Given the description of an element on the screen output the (x, y) to click on. 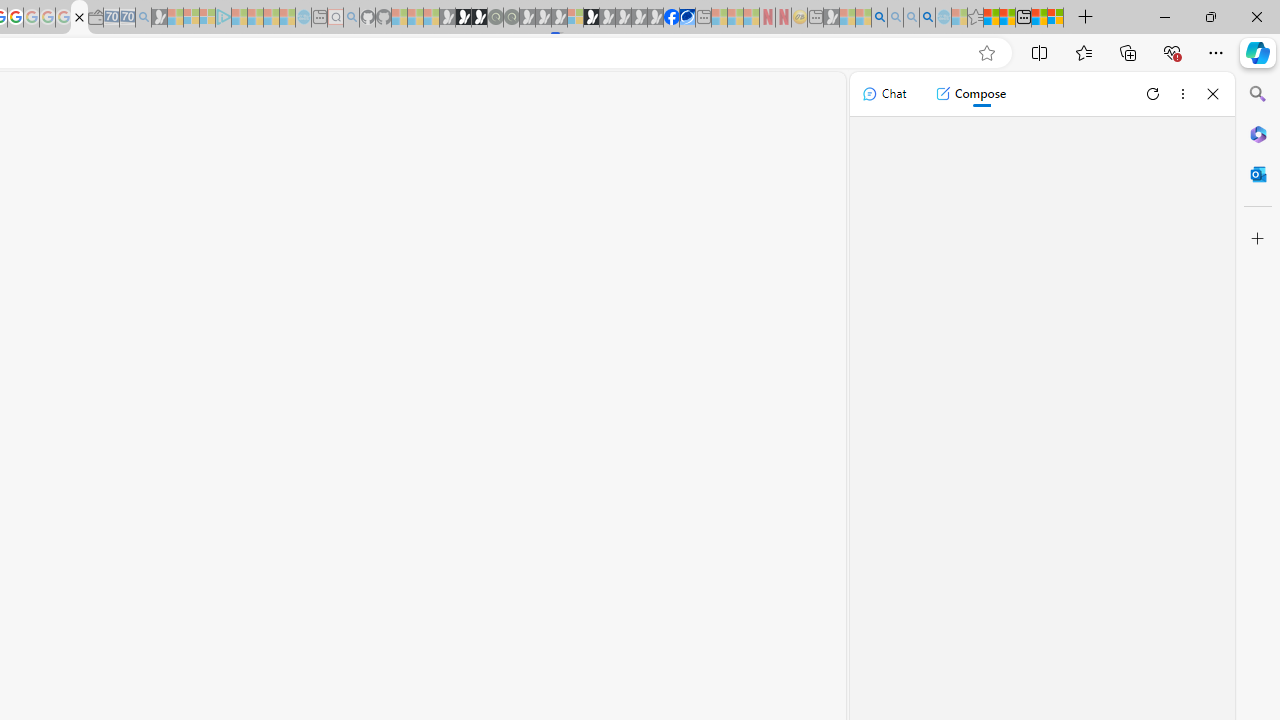
MSN - Sleeping (831, 17)
Aberdeen, Hong Kong SAR weather forecast | Microsoft Weather (1007, 17)
Play Zoo Boom in your browser | Games from Microsoft Start (463, 17)
